Given the description of an element on the screen output the (x, y) to click on. 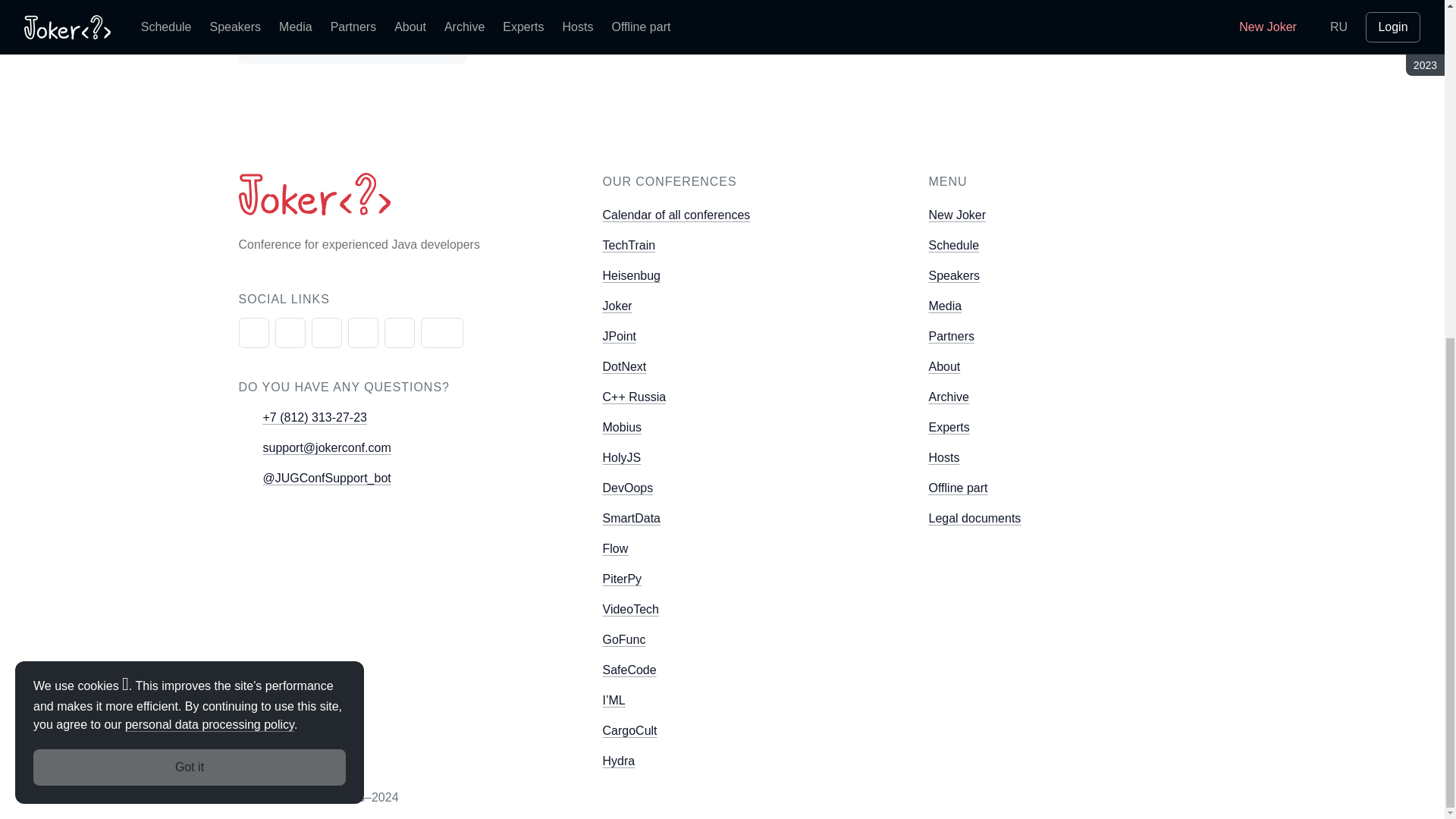
Youtube (252, 332)
VK (398, 332)
Languages (422, 39)
X (289, 332)
Telegram chat (325, 332)
Habr (441, 332)
Telegram channel (362, 332)
Talk complexity - (300, 39)
